Given the description of an element on the screen output the (x, y) to click on. 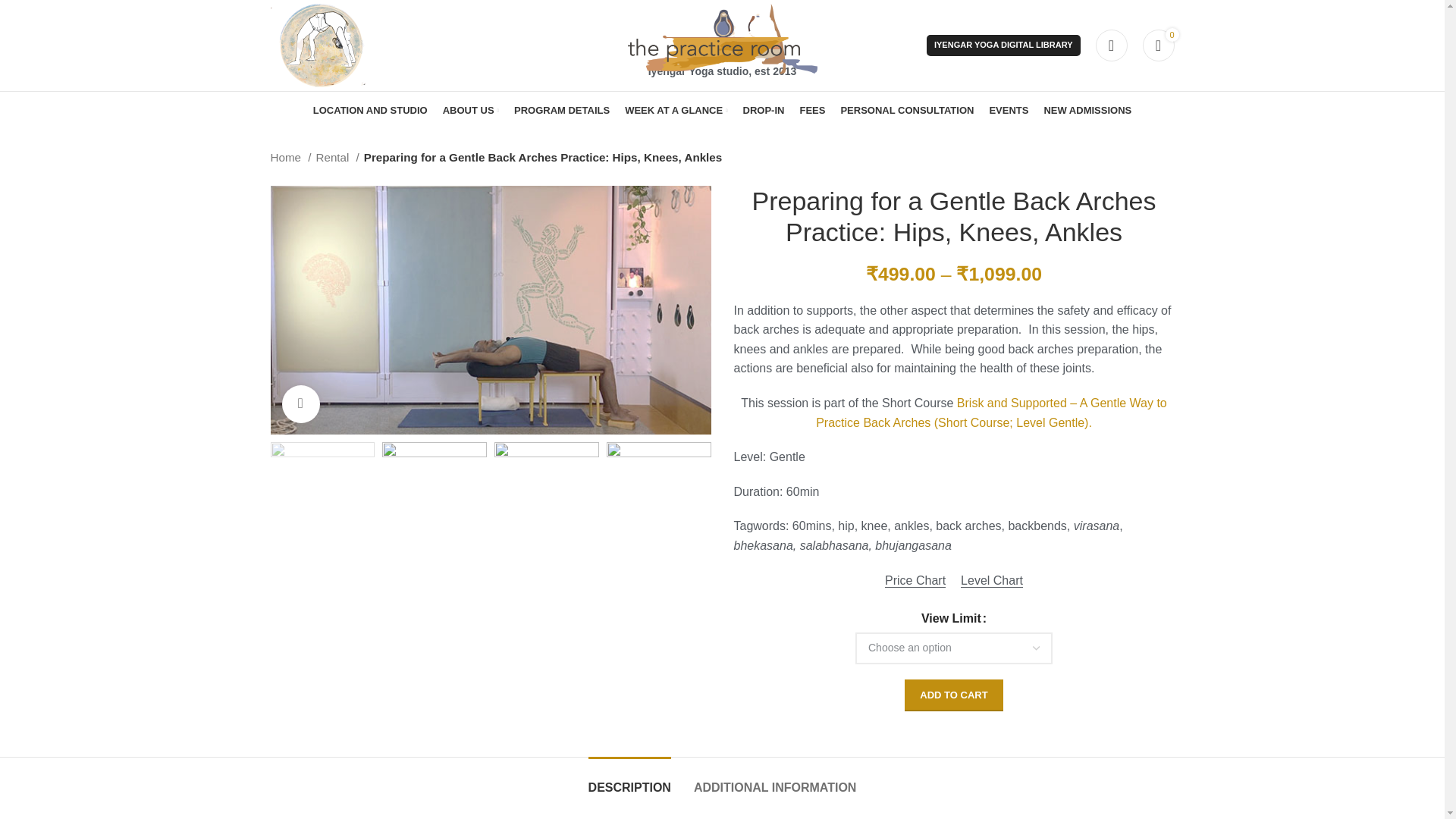
DROP-IN (763, 110)
NEW ADMISSIONS (1087, 110)
ABOUT US (470, 110)
EVENTS (1007, 110)
PERSONAL CONSULTATION (907, 110)
Shopping cart (1157, 45)
PROGRAM DETAILS (561, 110)
Rental (336, 157)
IYENGAR YOGA DIGITAL LIBRARY (1003, 45)
LOCATION AND STUDIO (370, 110)
